Given the description of an element on the screen output the (x, y) to click on. 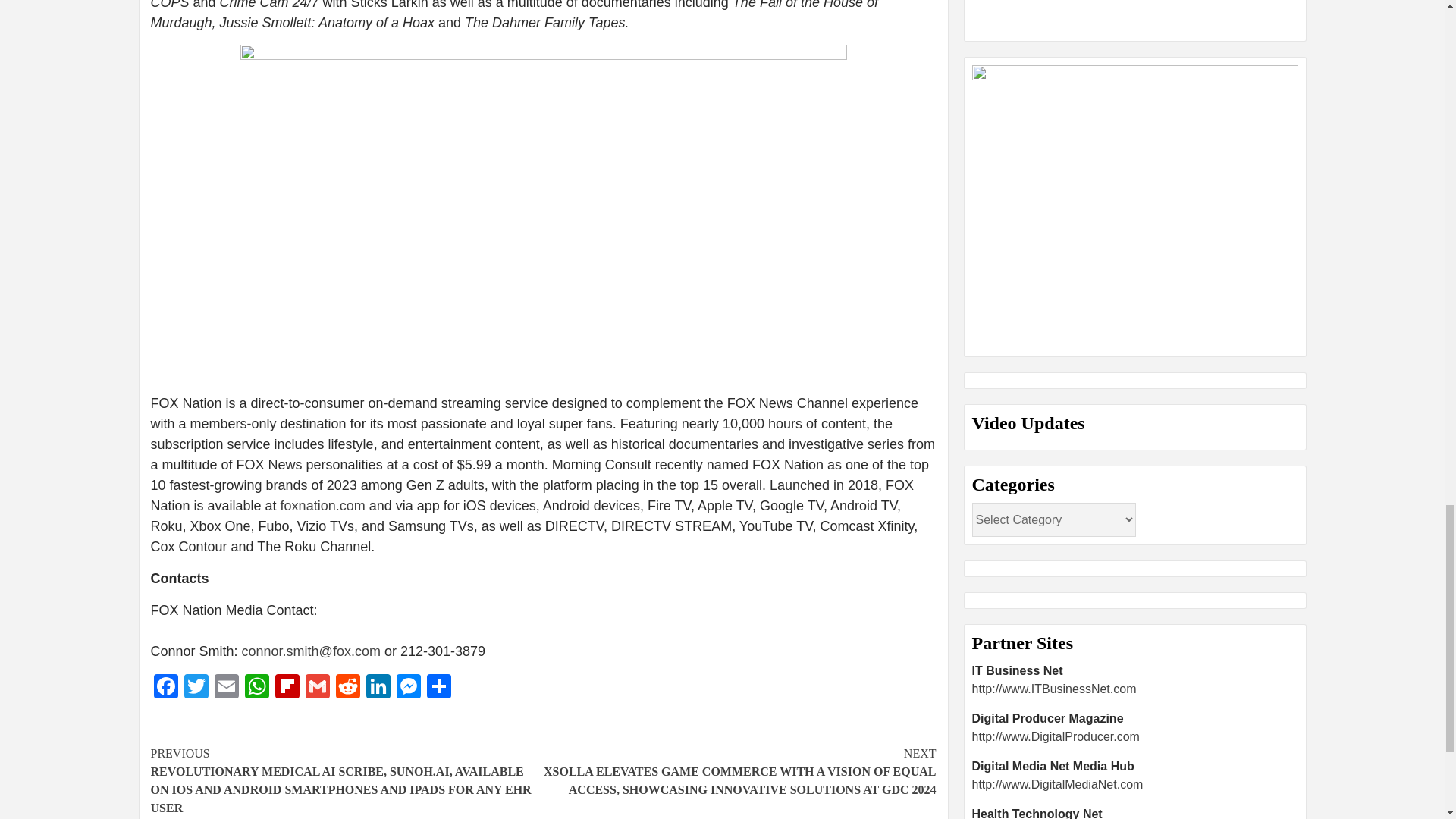
Twitter (195, 687)
WhatsApp (255, 687)
Flipboard (285, 687)
Email (226, 687)
foxnation.com (323, 505)
Facebook (164, 687)
Facebook (164, 687)
